Given the description of an element on the screen output the (x, y) to click on. 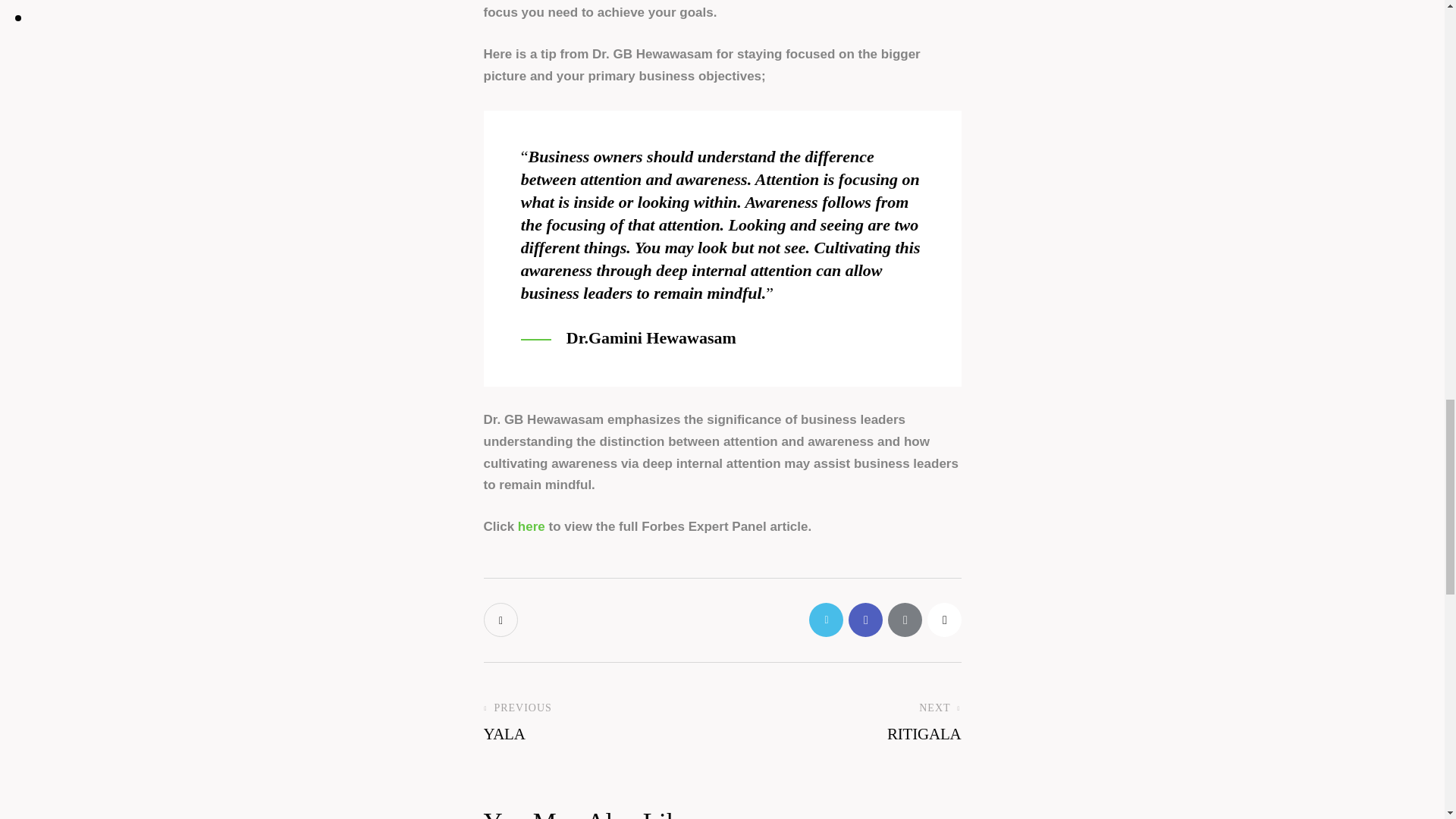
Like (502, 618)
Copy URL to clipboard (943, 618)
